Given the description of an element on the screen output the (x, y) to click on. 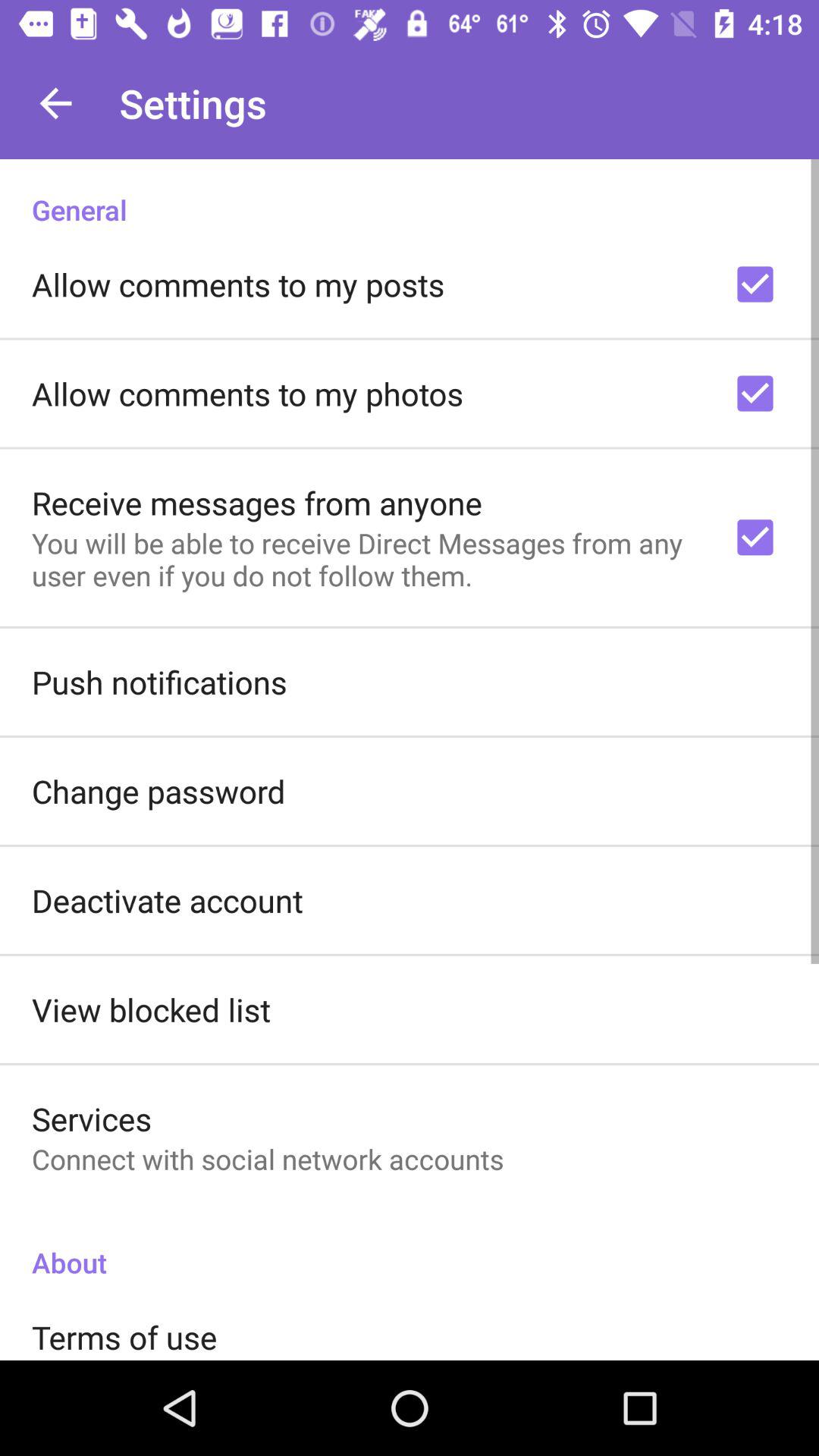
choose item below about icon (124, 1336)
